Given the description of an element on the screen output the (x, y) to click on. 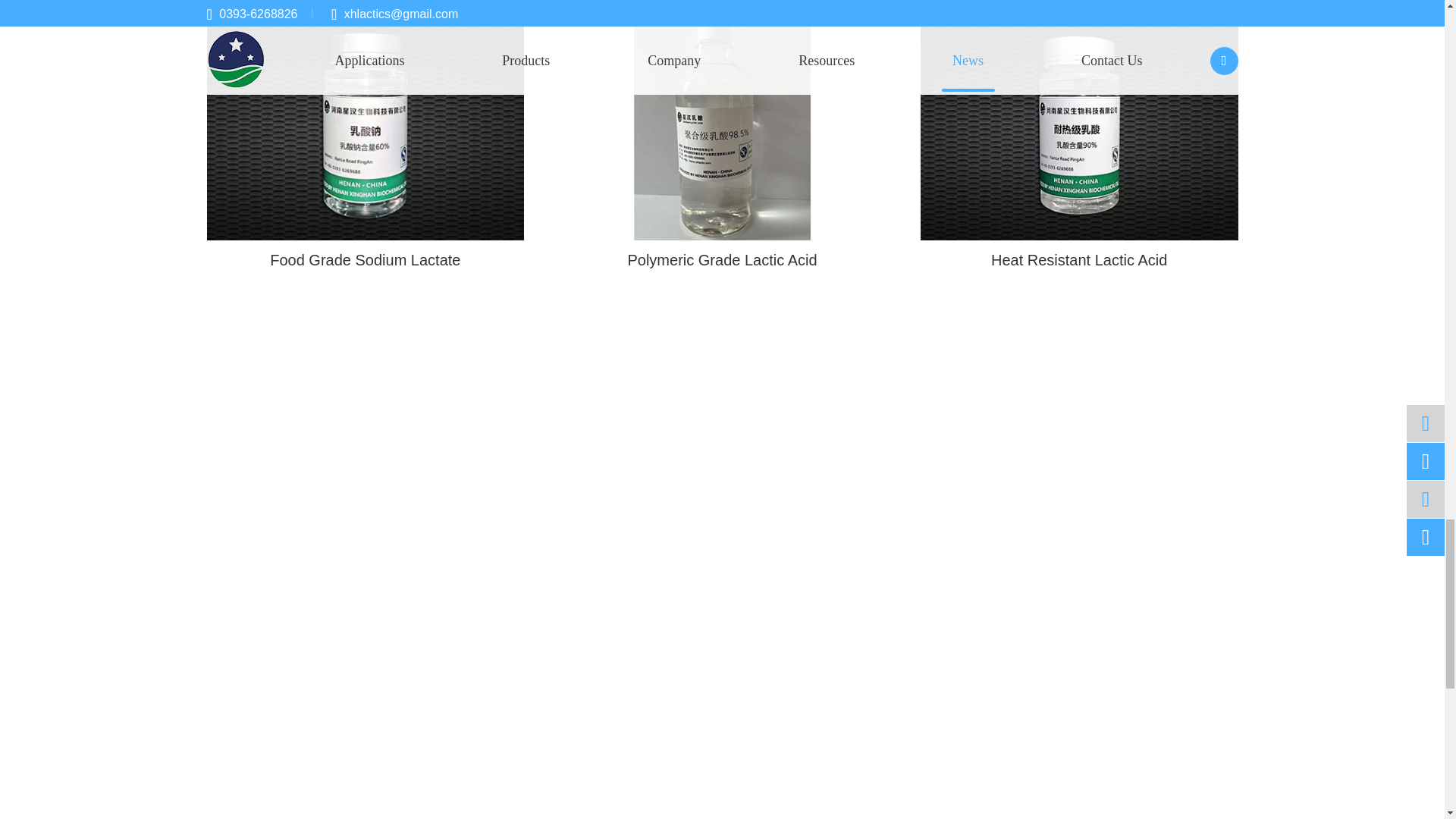
Heat Resistant Lactic Acid (1079, 124)
Food Grade Sodium Lactate (365, 124)
Polymeric Grade Lactic Acid (721, 124)
